Given the description of an element on the screen output the (x, y) to click on. 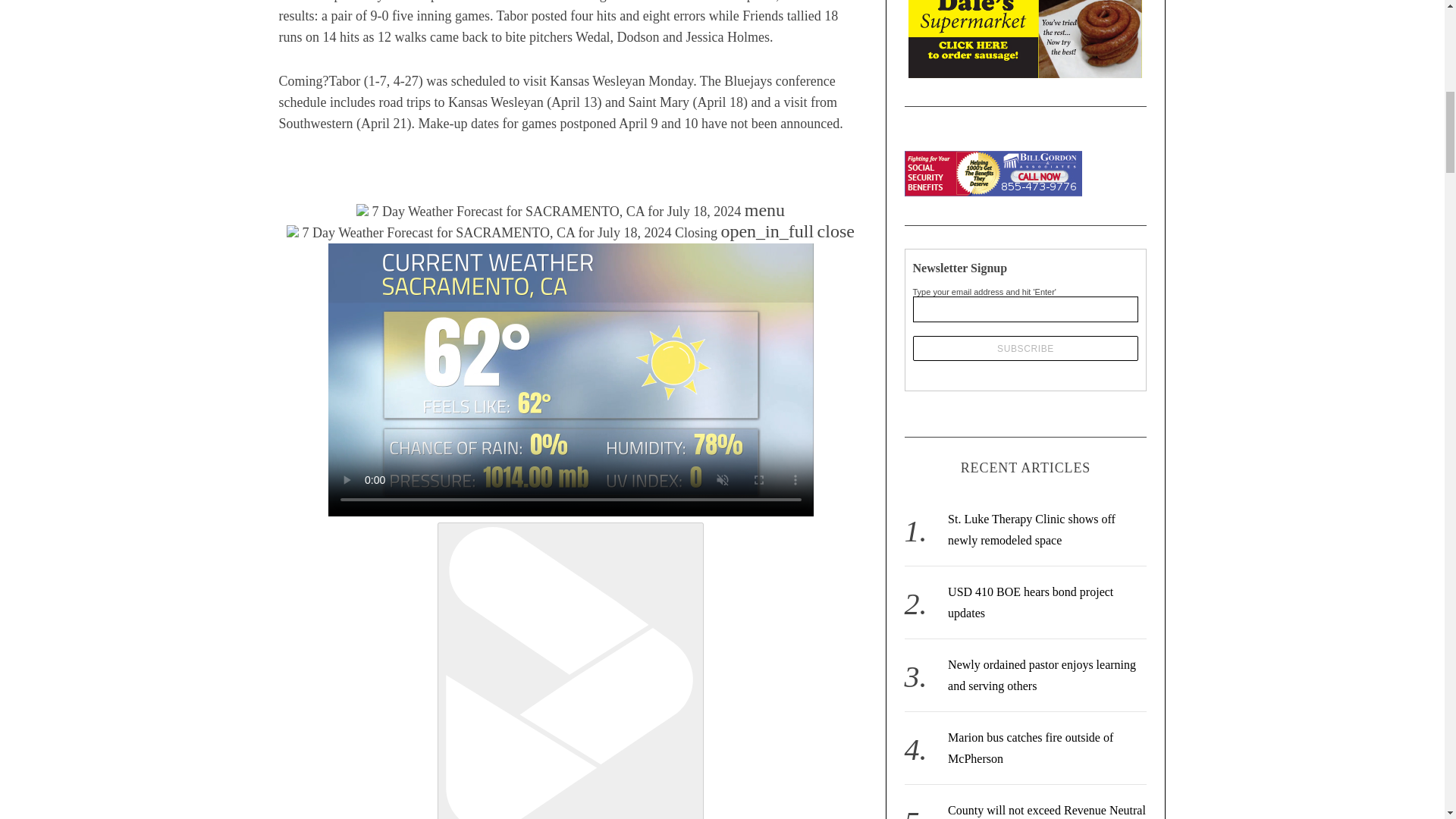
Subscribe (1025, 348)
